Given the description of an element on the screen output the (x, y) to click on. 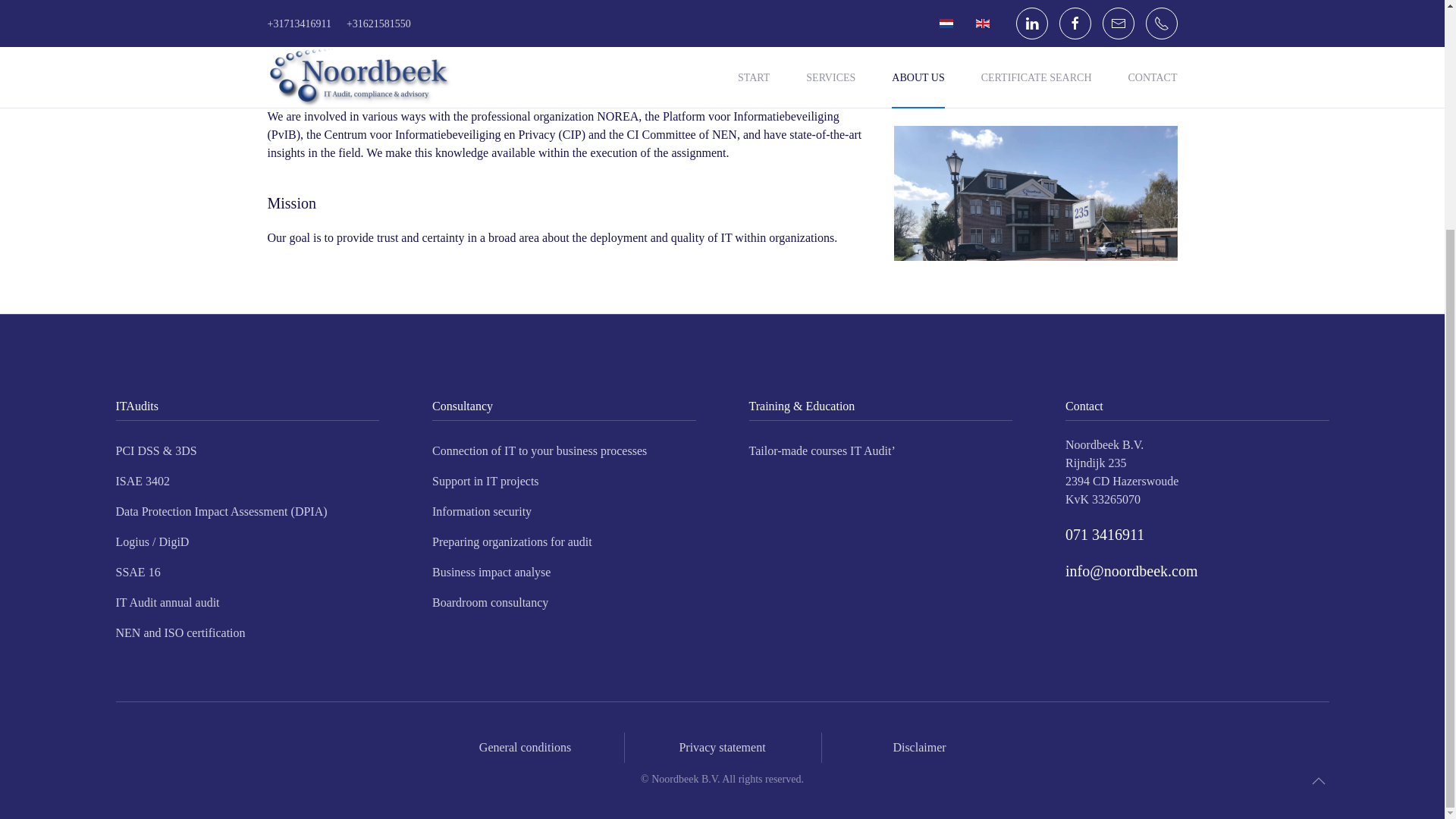
Back to Top (1318, 780)
Bel ons direct (1104, 534)
